Given the description of an element on the screen output the (x, y) to click on. 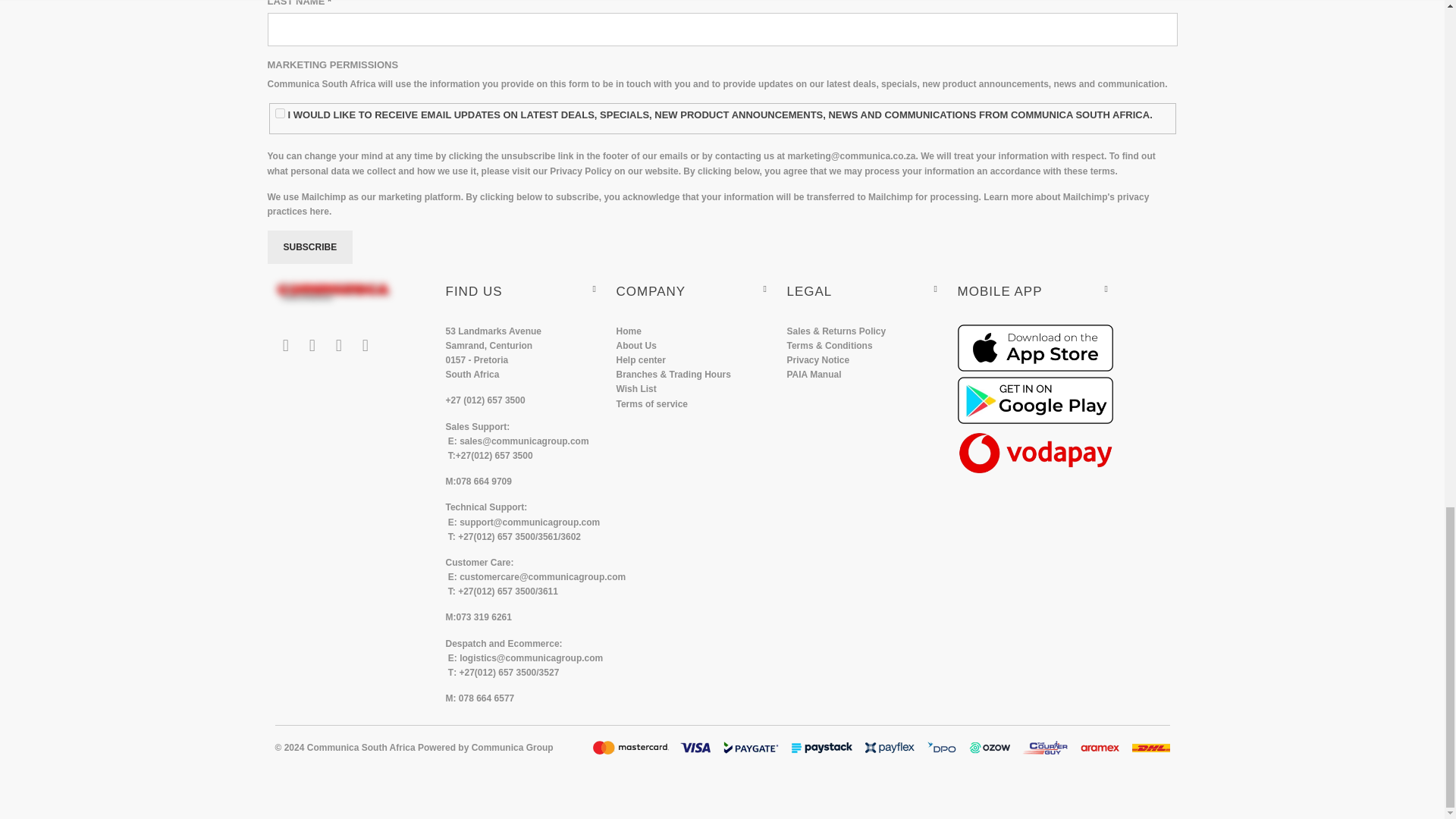
Y (280, 112)
Subscribe (309, 246)
